Given the description of an element on the screen output the (x, y) to click on. 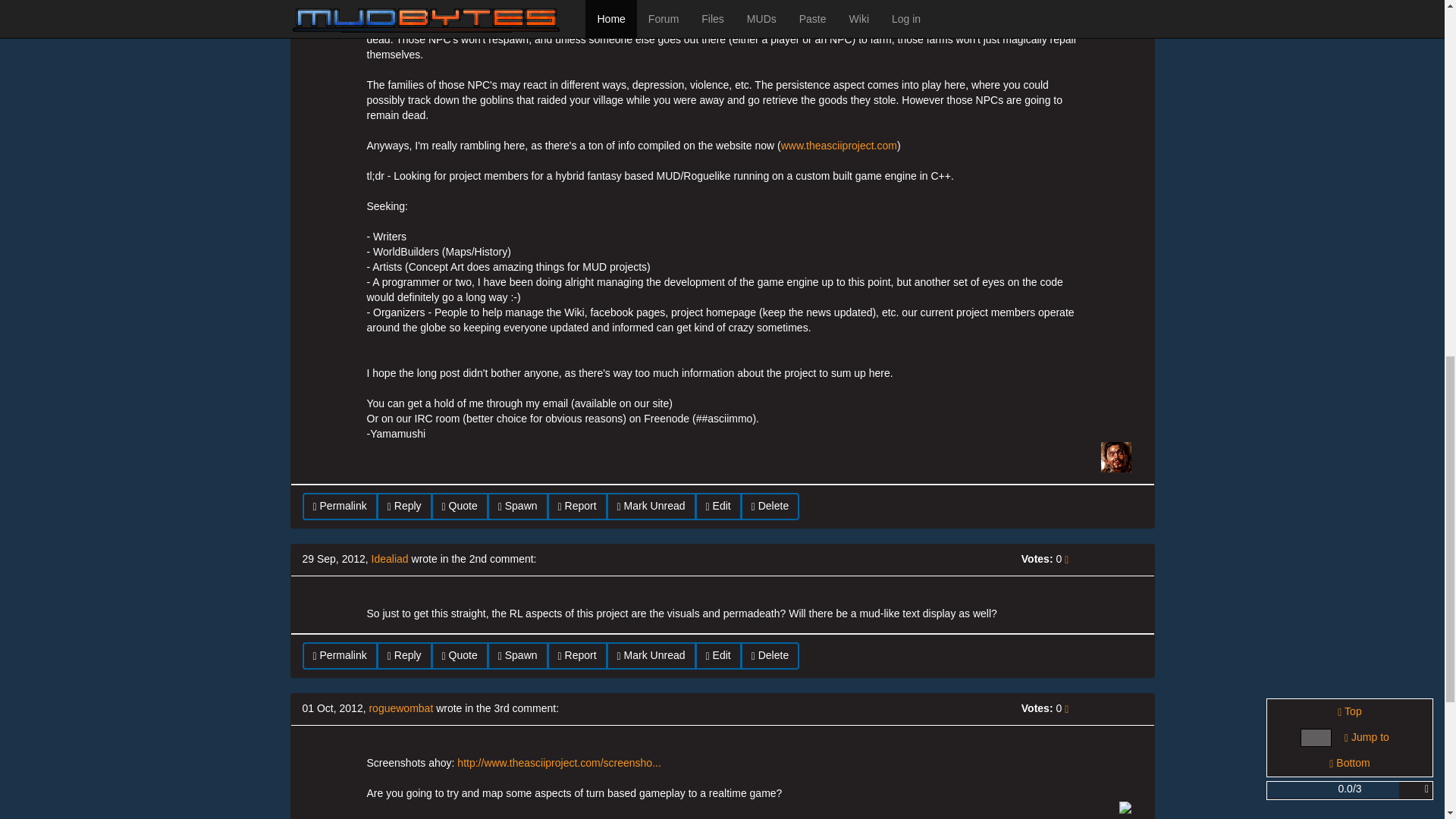
Report (577, 655)
Idealiad (390, 558)
Permalink (339, 506)
Report (577, 506)
Mark Unread (651, 655)
Spawn (517, 506)
Reply (404, 655)
Delete (770, 655)
roguewombat (400, 707)
Spawn (517, 655)
